Given the description of an element on the screen output the (x, y) to click on. 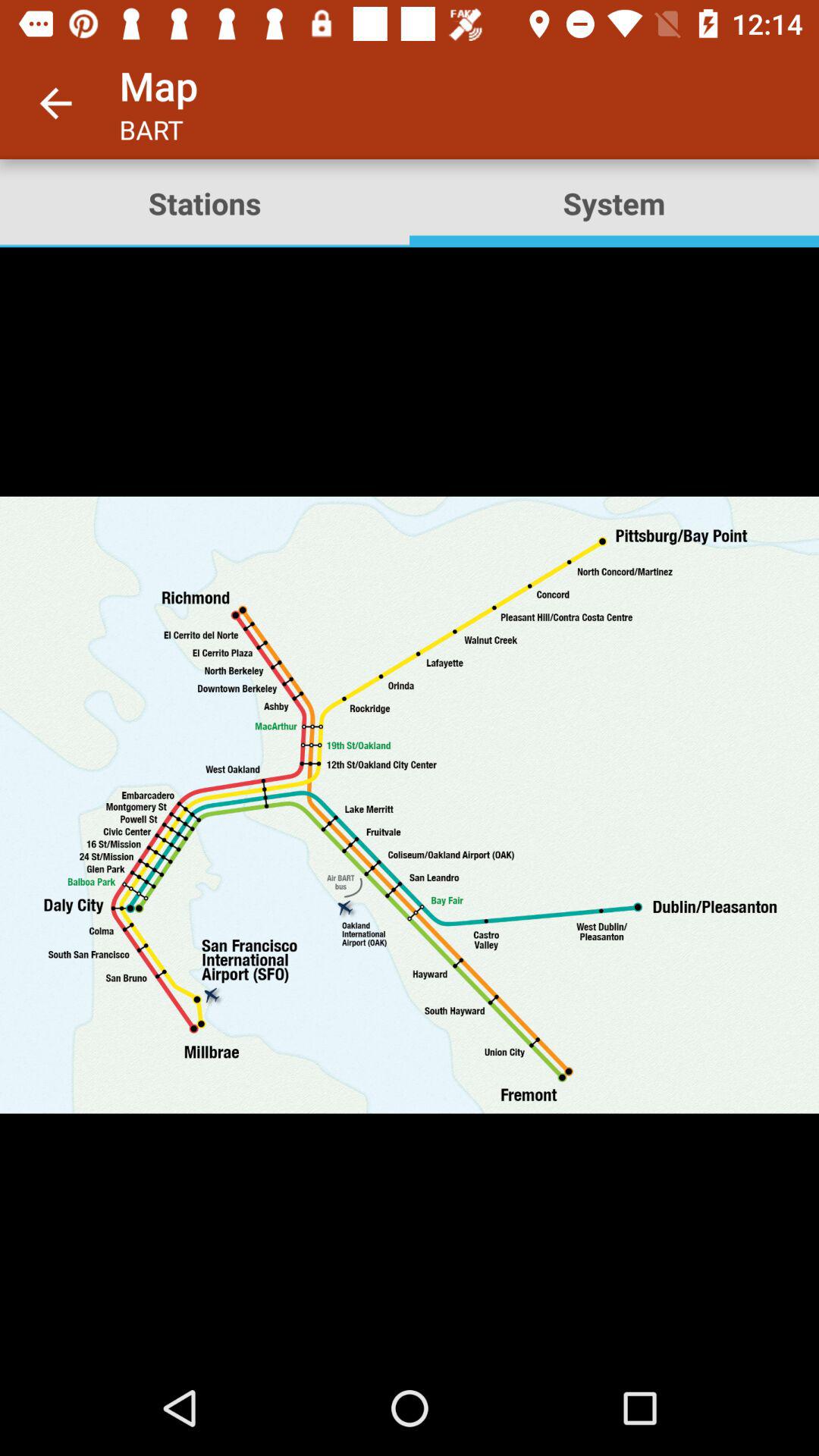
map icon (409, 803)
